Given the description of an element on the screen output the (x, y) to click on. 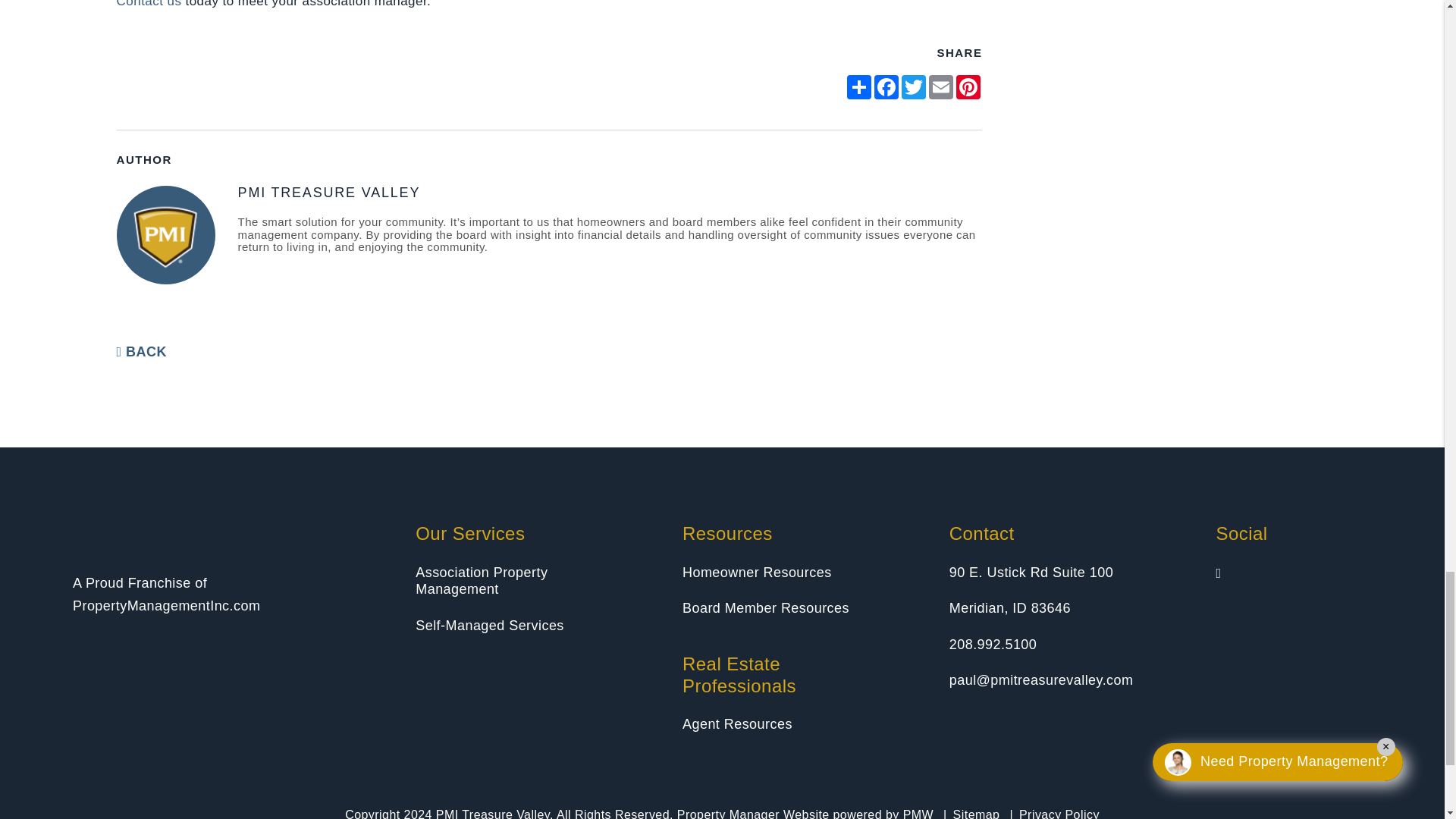
opens in new window (858, 87)
opens in new window (885, 87)
opens in new window (968, 87)
opens in new window (913, 87)
opens in new window (941, 87)
